Given the description of an element on the screen output the (x, y) to click on. 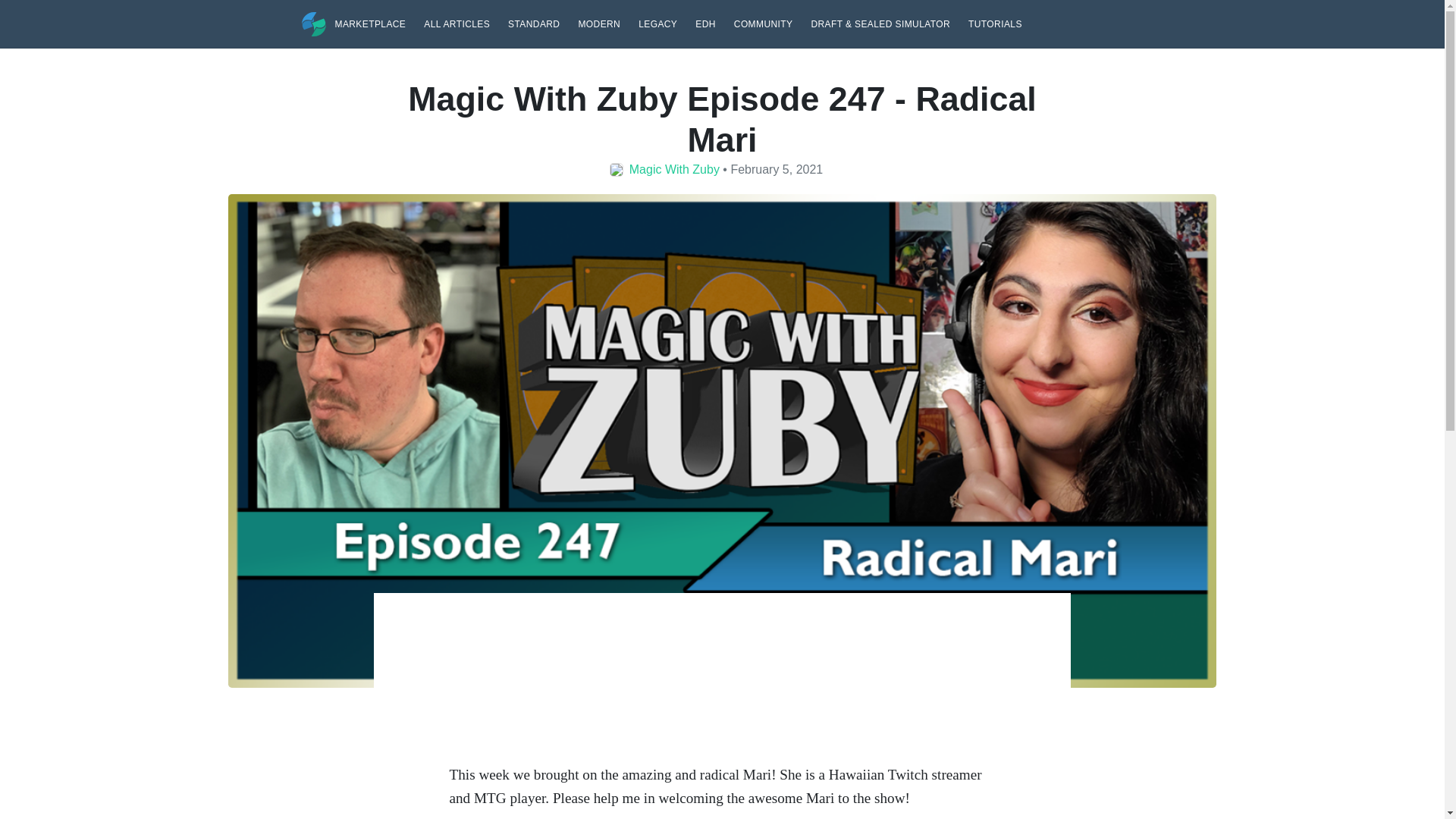
LEGACY (656, 23)
STANDARD (534, 23)
MODERN (598, 23)
COMMUNITY (763, 23)
TUTORIALS (994, 23)
ALL ARTICLES (456, 23)
EDH (705, 23)
Magic With Zuby (673, 168)
MARKETPLACE (370, 23)
